Given the description of an element on the screen output the (x, y) to click on. 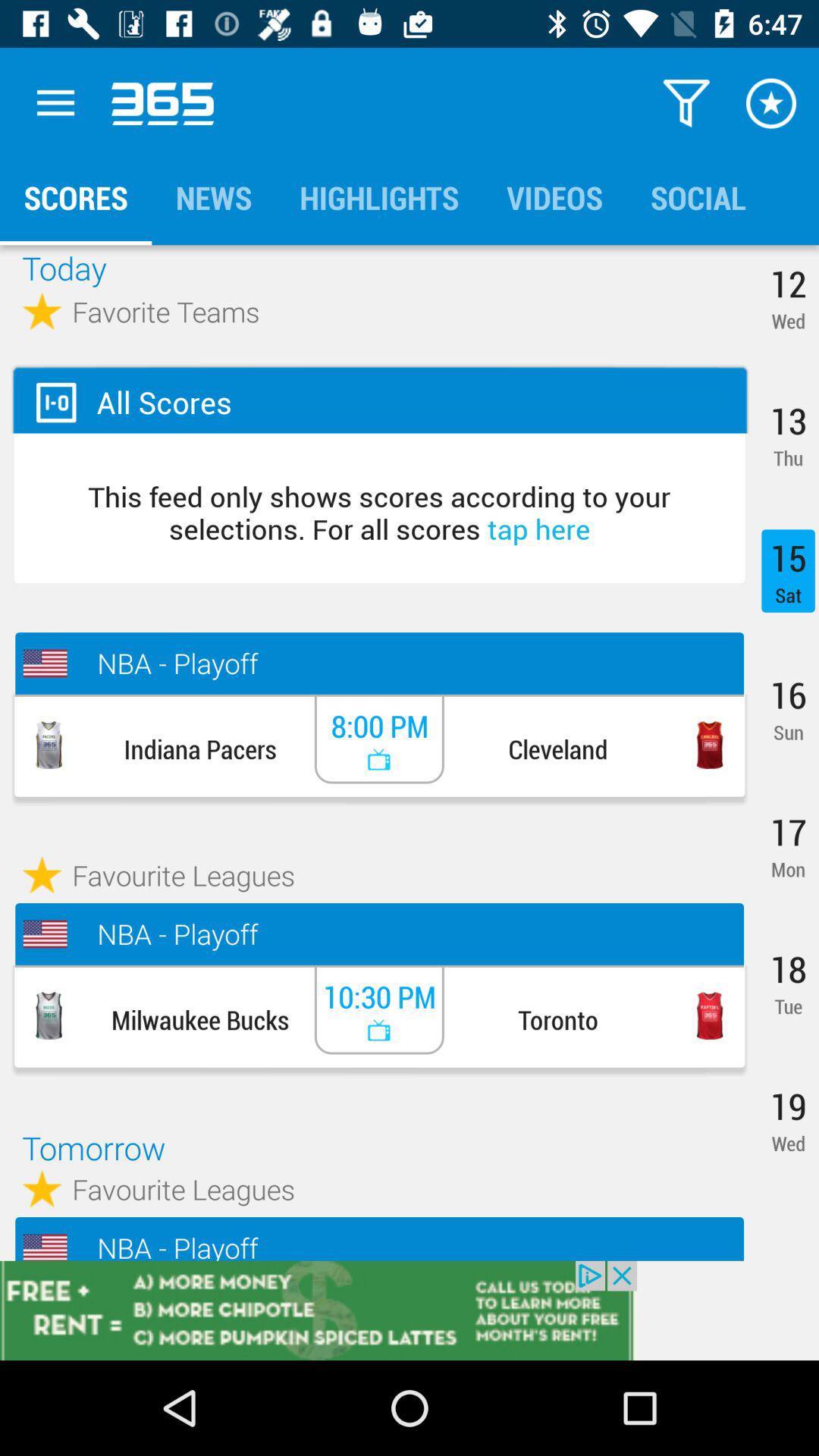
advertising (409, 1310)
